Given the description of an element on the screen output the (x, y) to click on. 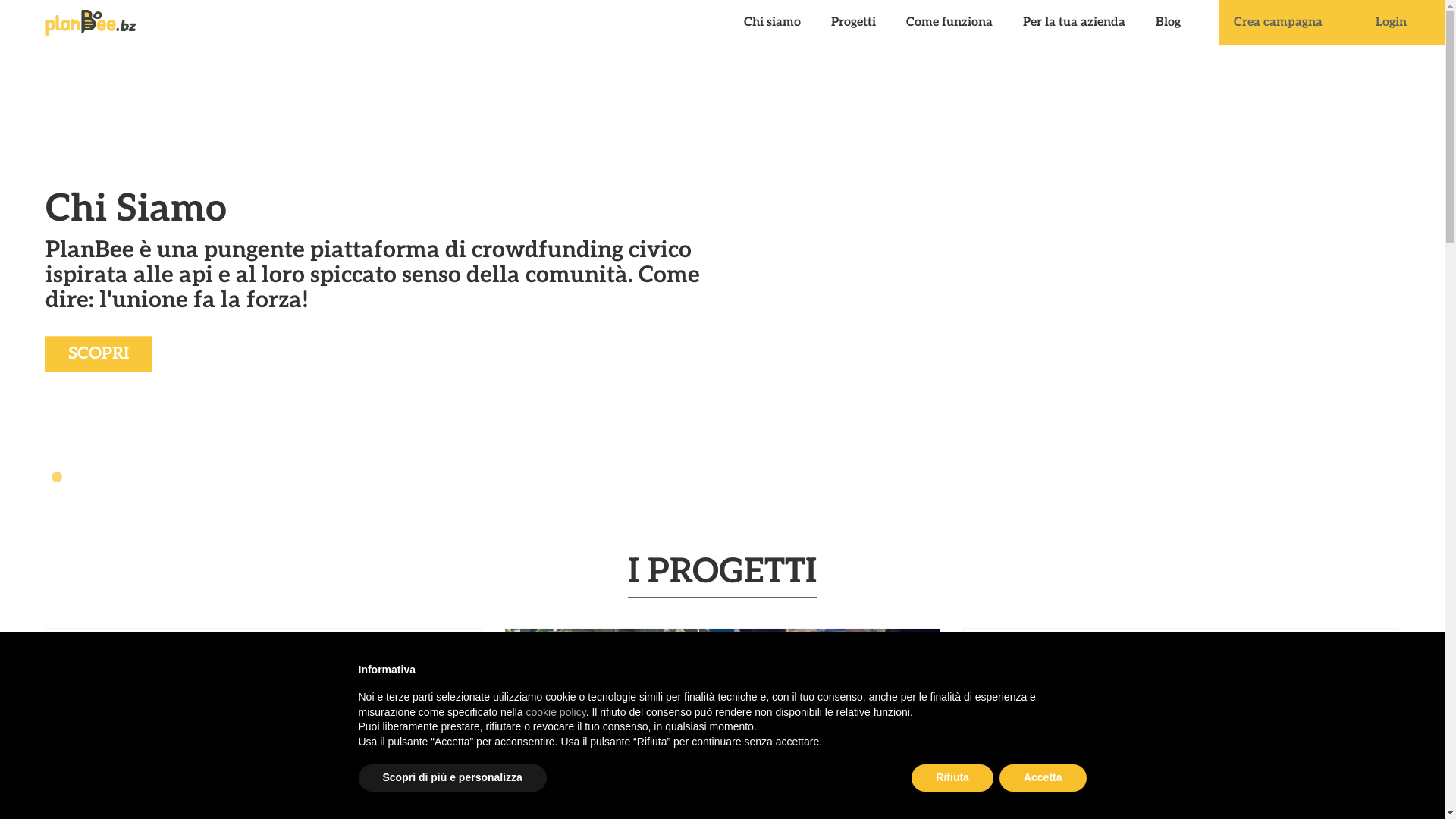
Per la tua azienda Element type: text (1073, 22)
Accetta Element type: text (1042, 777)
Crea campagna Element type: text (1277, 22)
Come funziona Element type: text (949, 22)
Login Element type: text (1390, 22)
1 Element type: text (56, 477)
SCOPRI Element type: text (98, 353)
Progetti Element type: text (853, 22)
cookie policy Element type: text (556, 712)
Chi siamo Element type: text (771, 22)
Rifiuta Element type: text (952, 777)
Blog Element type: text (1167, 22)
